Given the description of an element on the screen output the (x, y) to click on. 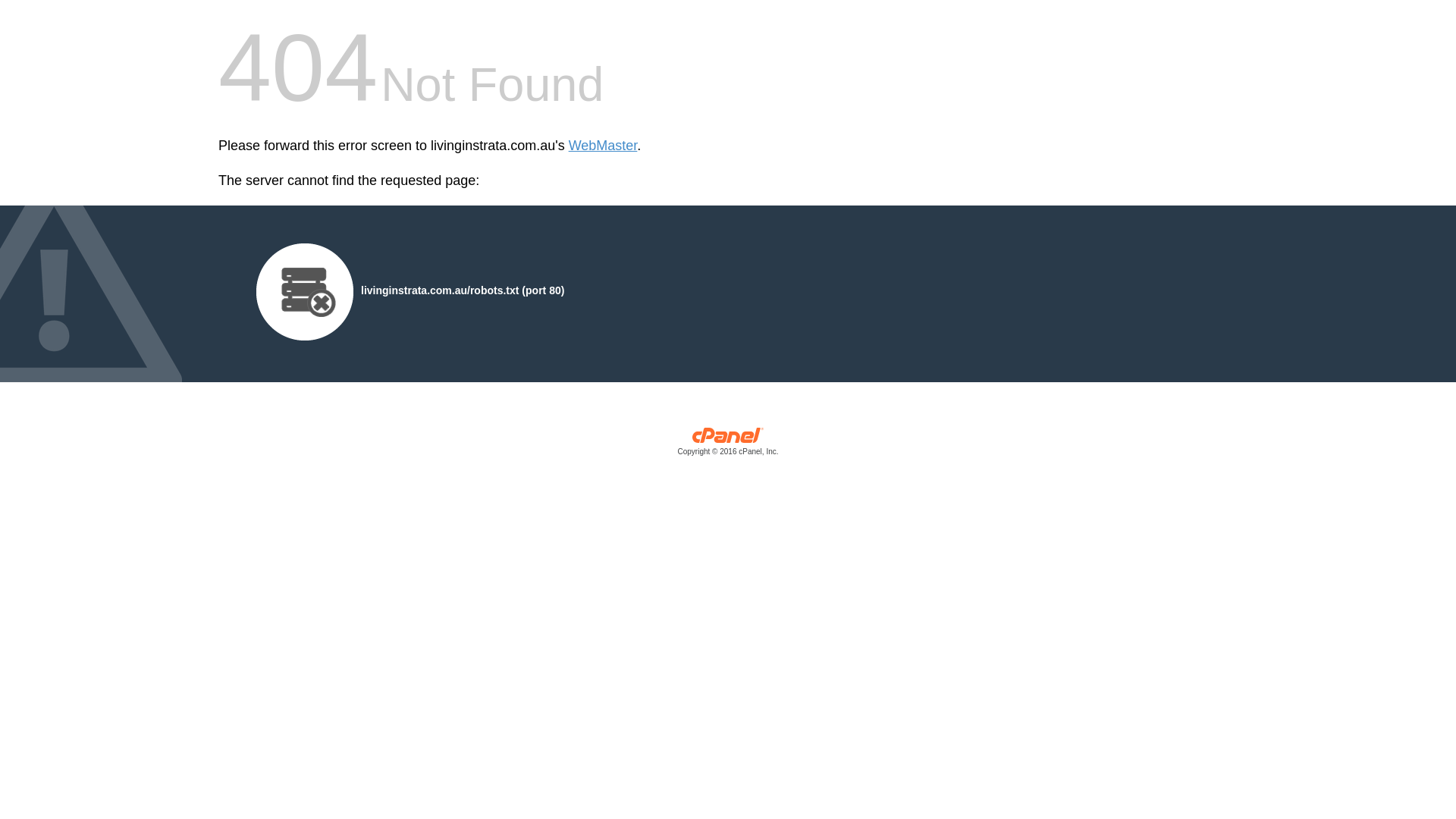
WebMaster Element type: text (602, 145)
